Given the description of an element on the screen output the (x, y) to click on. 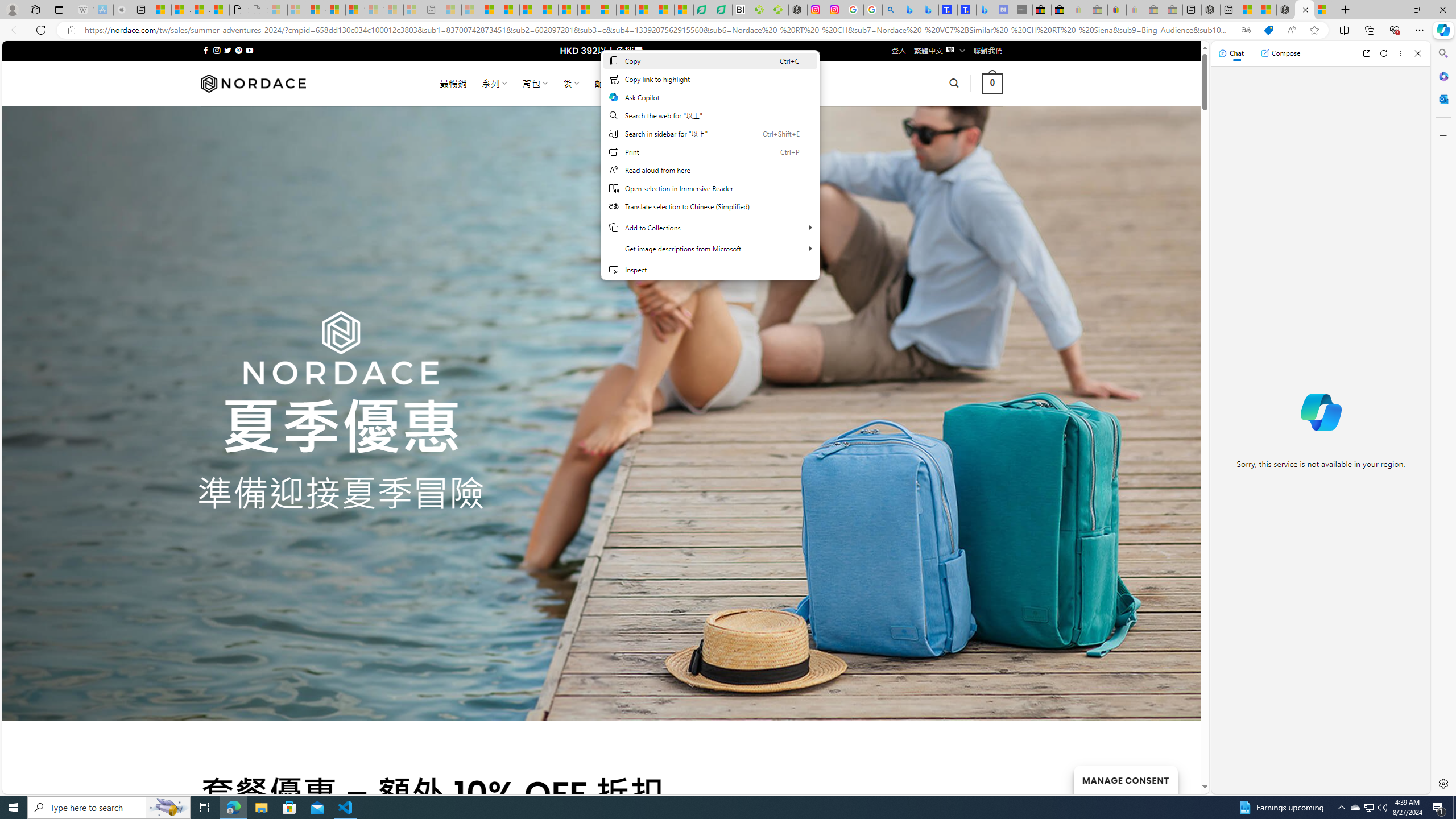
Microsoft account | Account Checkup - Sleeping (413, 9)
Web context (710, 171)
The importance of being lazy (1267, 9)
